Given the description of an element on the screen output the (x, y) to click on. 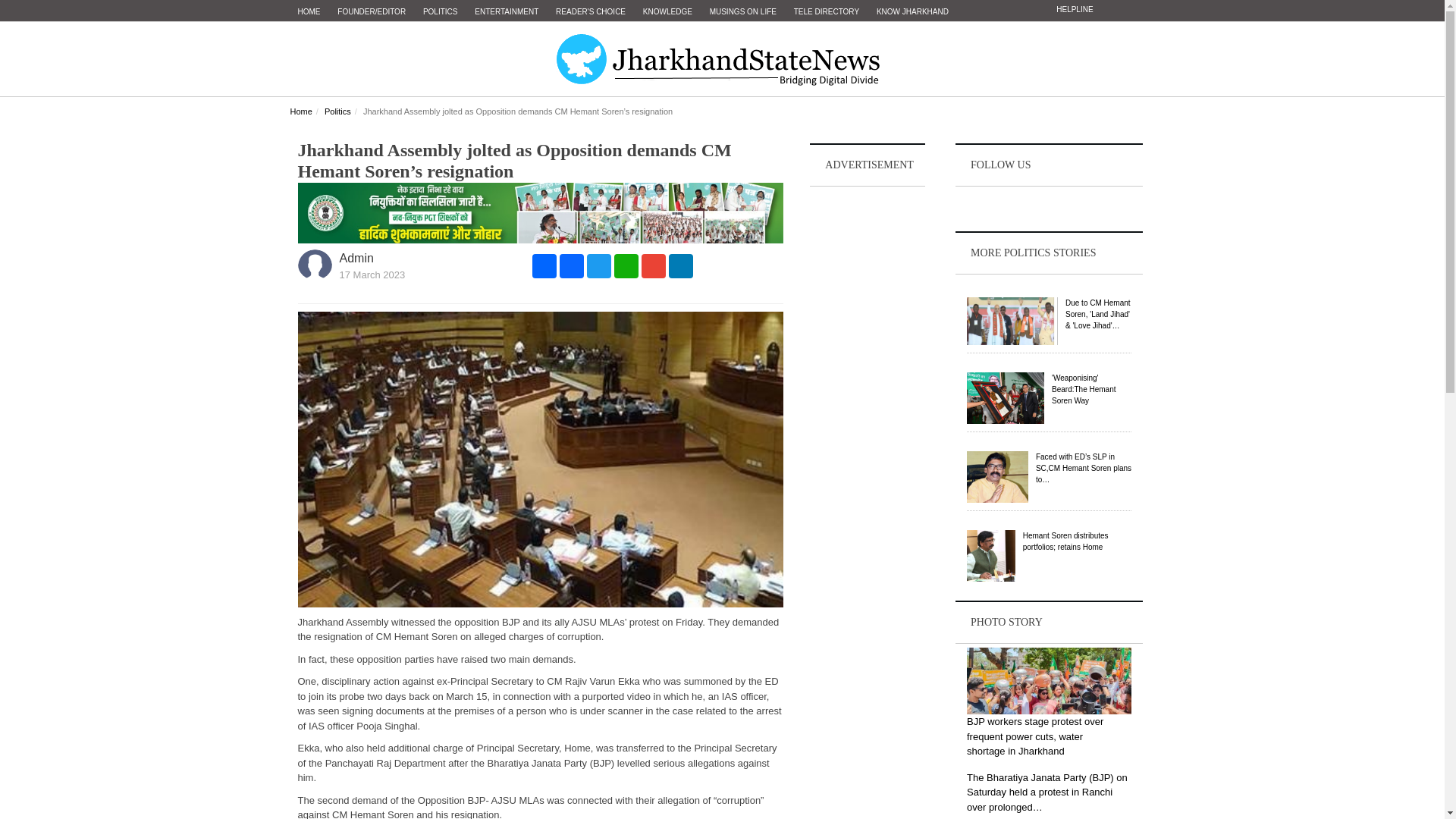
Share (544, 265)
TELE DIRECTORY (826, 11)
WhatsApp (626, 265)
Politics (337, 111)
Gmail (653, 265)
MUSINGS ON LIFE (742, 11)
KNOW JHARKHAND (912, 11)
HELPLINE (1074, 9)
HOME (308, 11)
READER'S CHOICE (590, 11)
Twitter (598, 265)
KNOWLEDGE (667, 11)
Home (300, 111)
ENTERTAINMENT (506, 11)
POLITICS (439, 11)
